Given the description of an element on the screen output the (x, y) to click on. 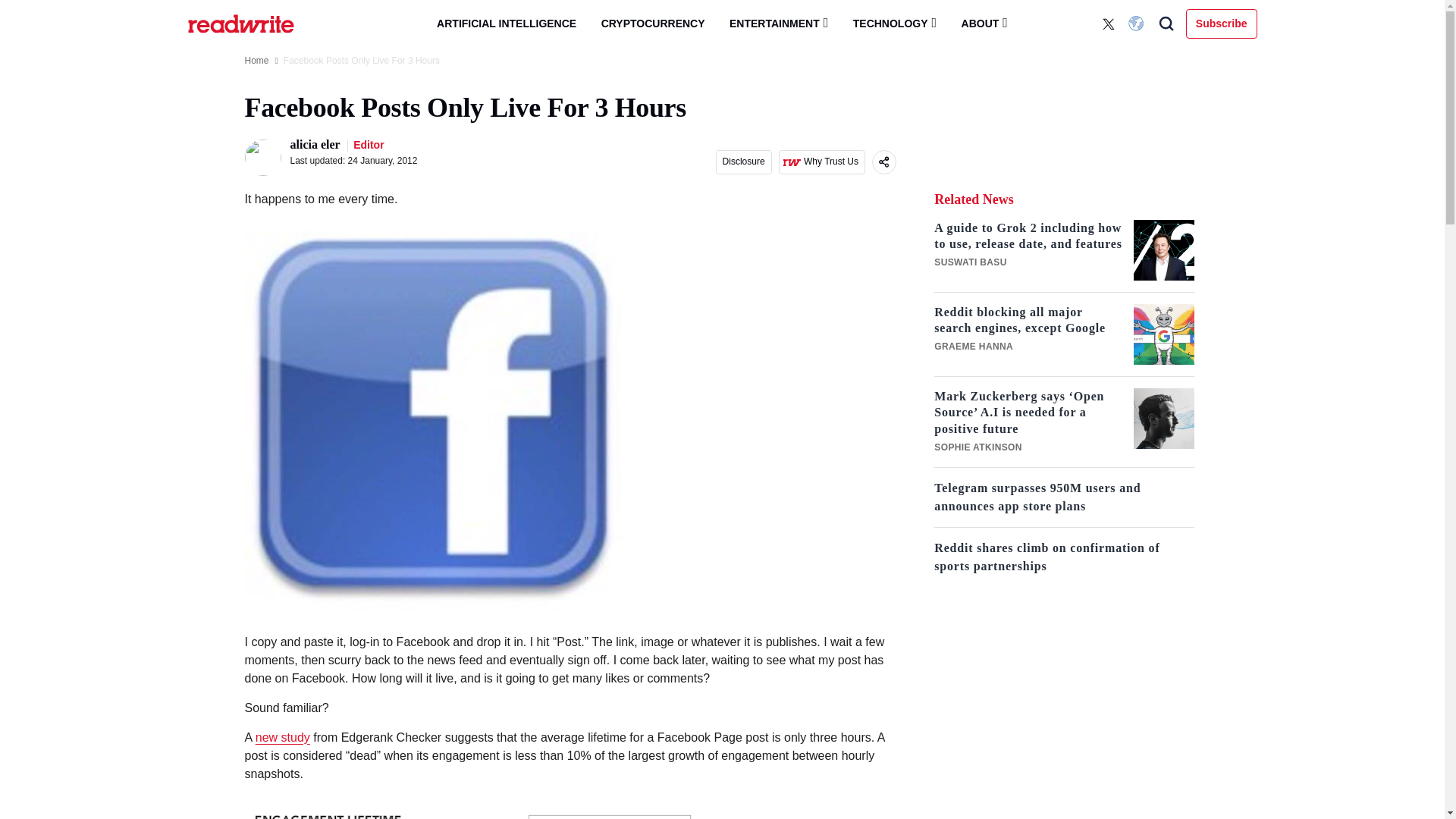
CRYPTOCURRENCY (653, 23)
ARTIFICIAL INTELLIGENCE (506, 23)
ENTERTAINMENT (778, 23)
ABOUT (983, 23)
Home (255, 60)
TECHNOLOGY (895, 23)
Subscribe (1221, 23)
English (1137, 23)
